Given the description of an element on the screen output the (x, y) to click on. 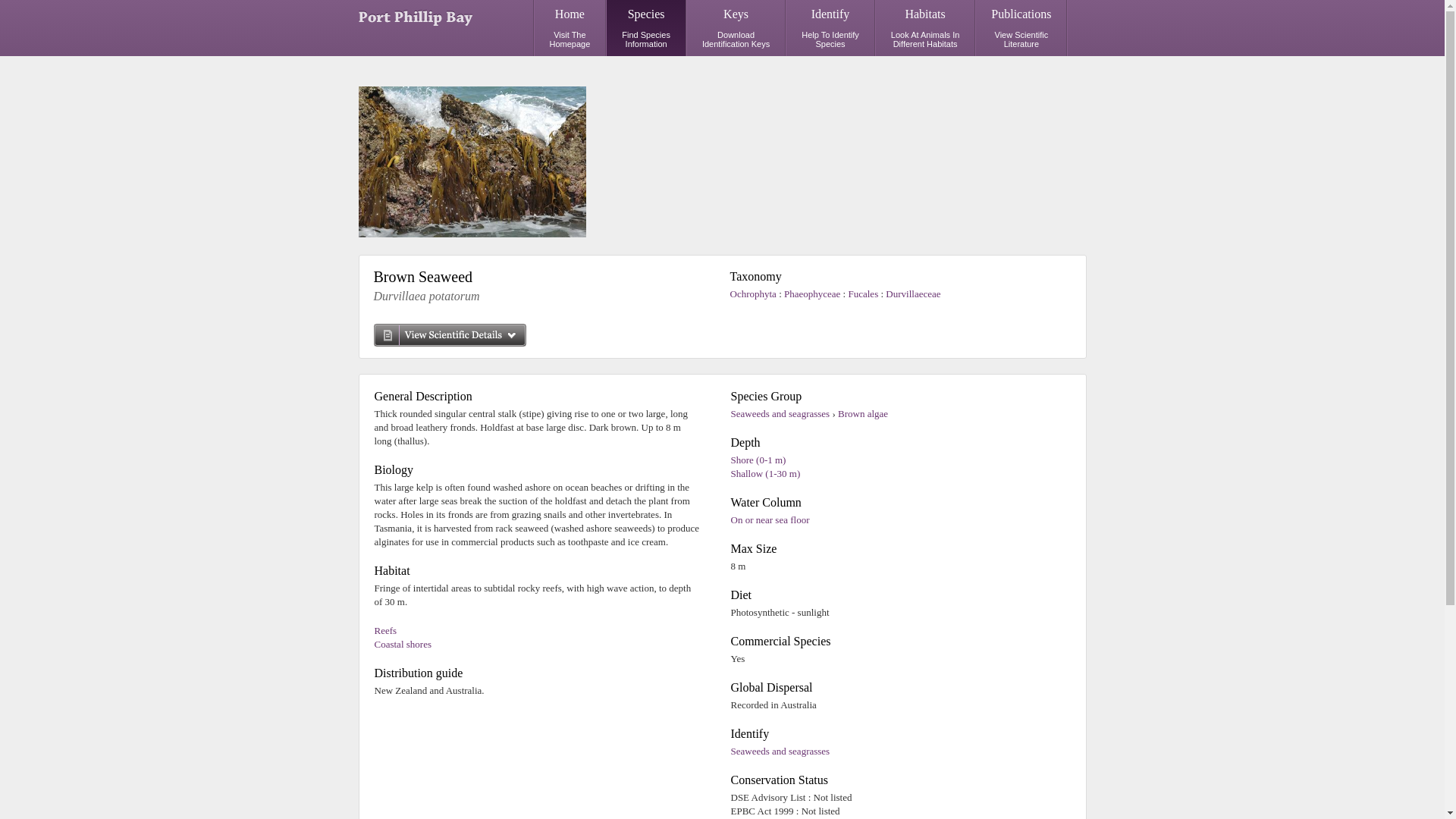
Durvillaeceae (912, 293)
Ochrophyta (1020, 28)
Seaweeds and seagrasses (753, 293)
Coastal shores (779, 750)
PORT PHILLIP BAY (402, 644)
Brown algae (830, 28)
Seaweeds and seagrasses (646, 28)
